Given the description of an element on the screen output the (x, y) to click on. 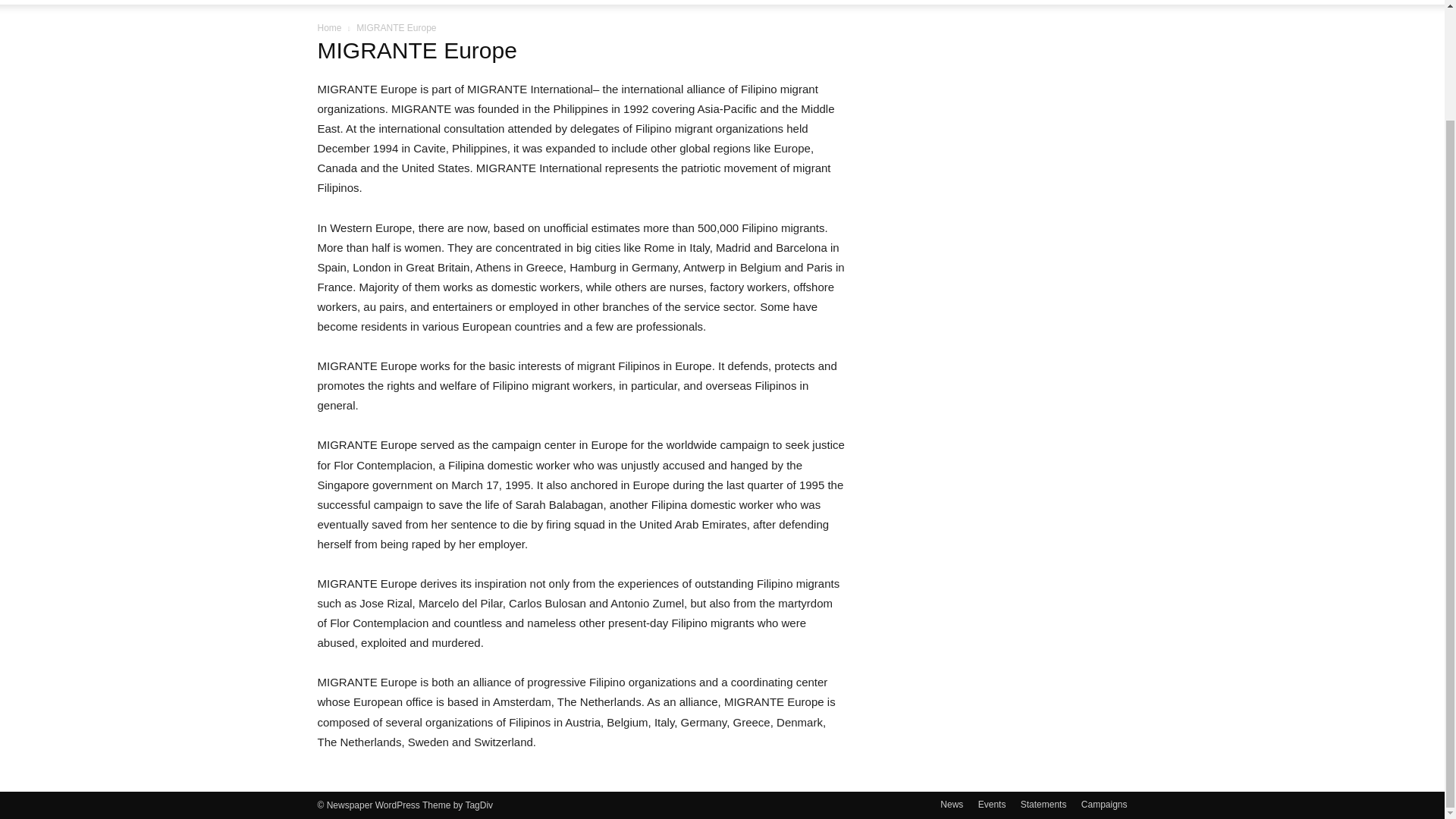
NEWS (349, 2)
EVENTS (422, 2)
STATEMENTS (505, 2)
Search (1085, 46)
CAMPAIGNS (594, 2)
